Given the description of an element on the screen output the (x, y) to click on. 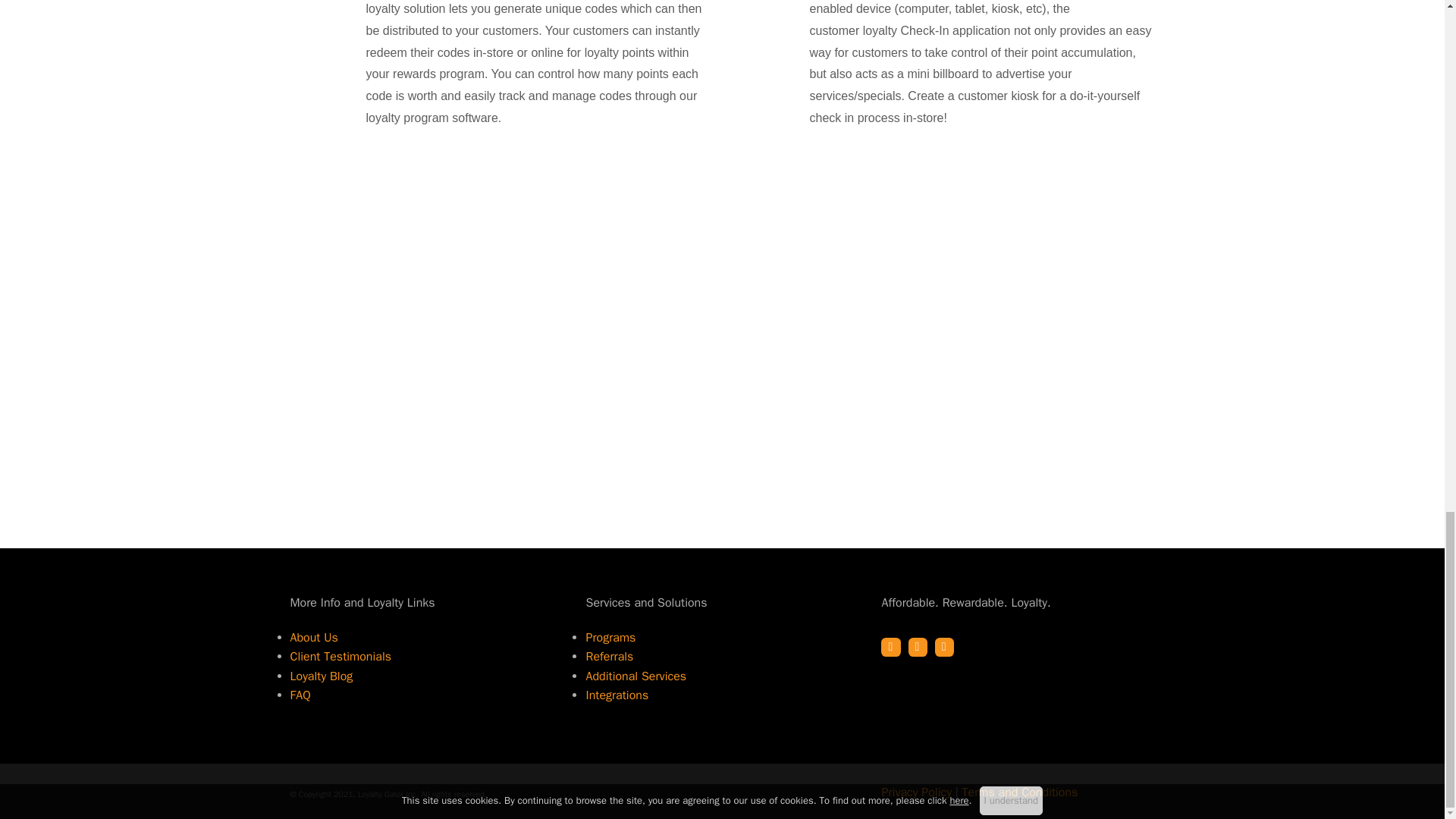
Programs (609, 637)
Loyalty Gator Reviews (340, 656)
Twitter (918, 647)
Loyalty Programs (609, 637)
Additional Services (635, 676)
FAQ (299, 694)
Frequently Asked Loyalty Questions (299, 694)
About Us (313, 637)
Loyalty program software integrations (616, 694)
Client Testimonials (340, 656)
Customer Referral Programs (609, 656)
Referrals (609, 656)
Loyalty Blog (320, 676)
Additional Loyalty Solutions and Add-ons (635, 676)
About Loyalty Gator (313, 637)
